Given the description of an element on the screen output the (x, y) to click on. 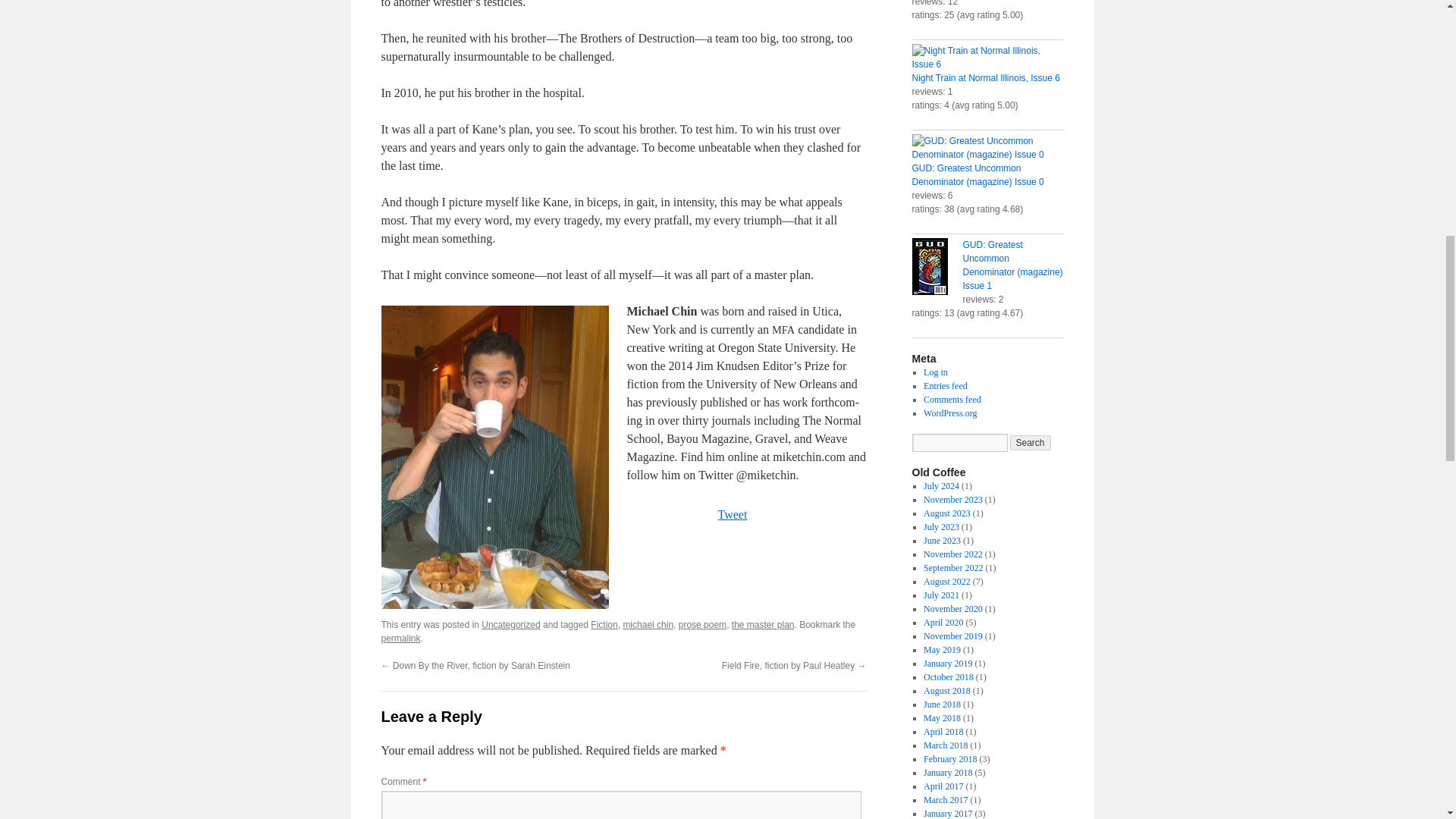
Permalink to The Master Plan, by Michael Chin (400, 638)
Search (1030, 442)
Night Train at Normal Illinois, Issue 6 (986, 57)
